Given the description of an element on the screen output the (x, y) to click on. 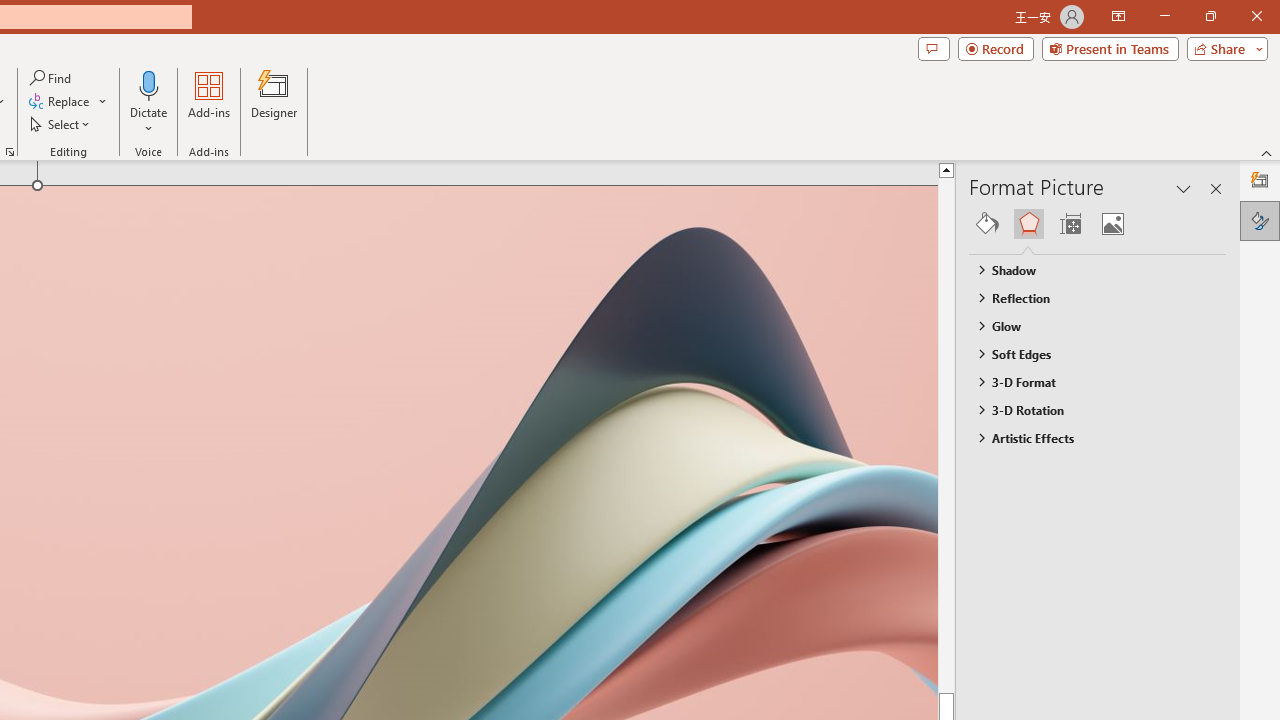
3-D Format (1088, 381)
Artistic Effects (1088, 438)
Format Picture (1260, 220)
